Given the description of an element on the screen output the (x, y) to click on. 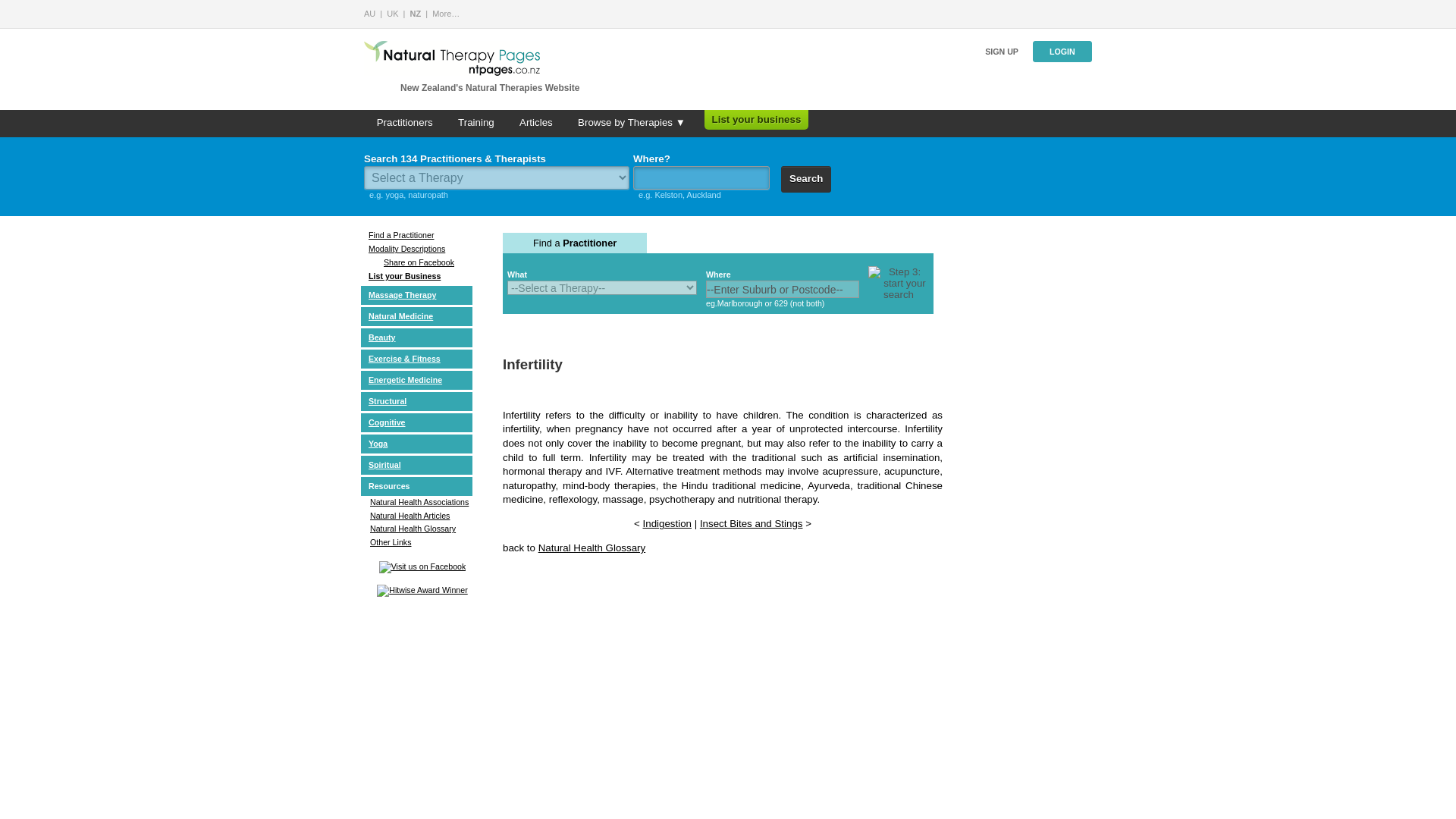
Natural Therapy Pages AU (369, 13)
Articles (535, 123)
Natural Therapy Pages UK (392, 13)
SIGN UP (1000, 51)
Practitioners (404, 123)
Training (475, 123)
List your business (756, 119)
Natural Therapy Pages (446, 13)
LOGIN (1062, 51)
Practitioners (404, 123)
Training (475, 123)
UK (392, 13)
--Enter Suburb or Postcode-- (782, 289)
AU (369, 13)
